Given the description of an element on the screen output the (x, y) to click on. 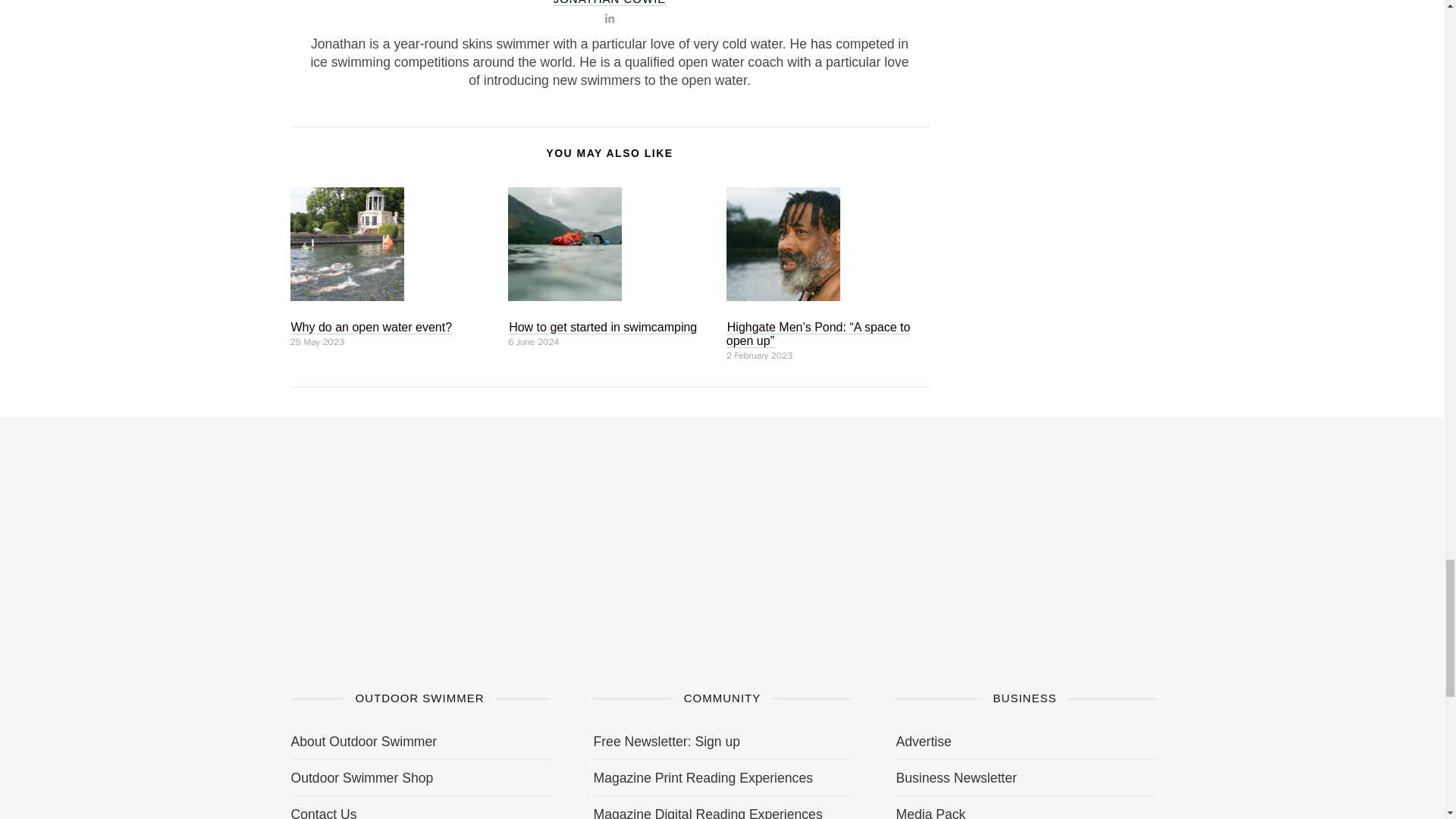
Posts by Jonathan Cowie (609, 2)
